Given the description of an element on the screen output the (x, y) to click on. 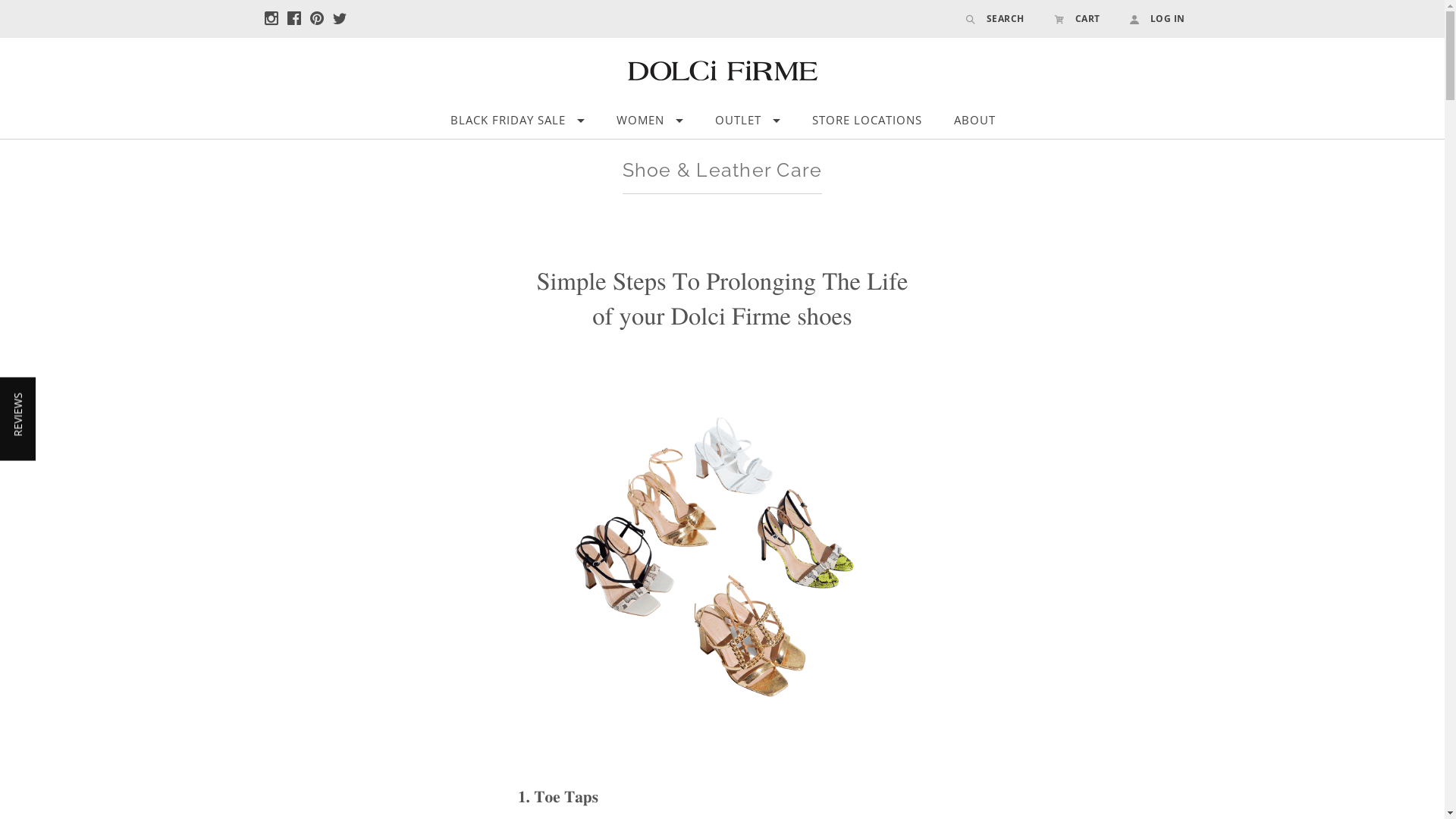
LOG IN Element type: text (1149, 18)
CART Element type: text (1076, 18)
ABOUT Element type: text (974, 120)
SEARCH Element type: text (994, 18)
WOMEN Element type: text (649, 120)
BLACK FRIDAY SALE Element type: text (517, 120)
OUTLET Element type: text (747, 120)
STORE LOCATIONS Element type: text (866, 120)
